Given the description of an element on the screen output the (x, y) to click on. 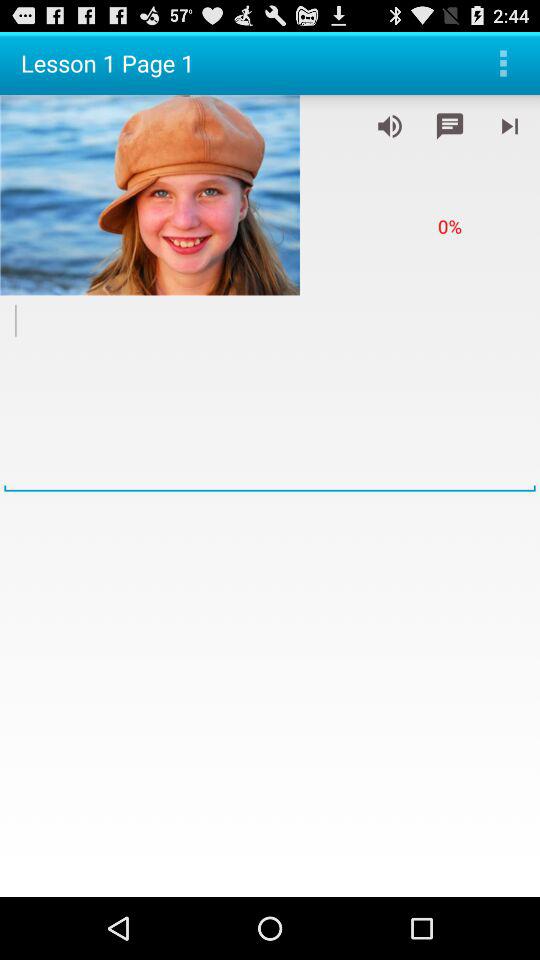
next page (510, 125)
